Given the description of an element on the screen output the (x, y) to click on. 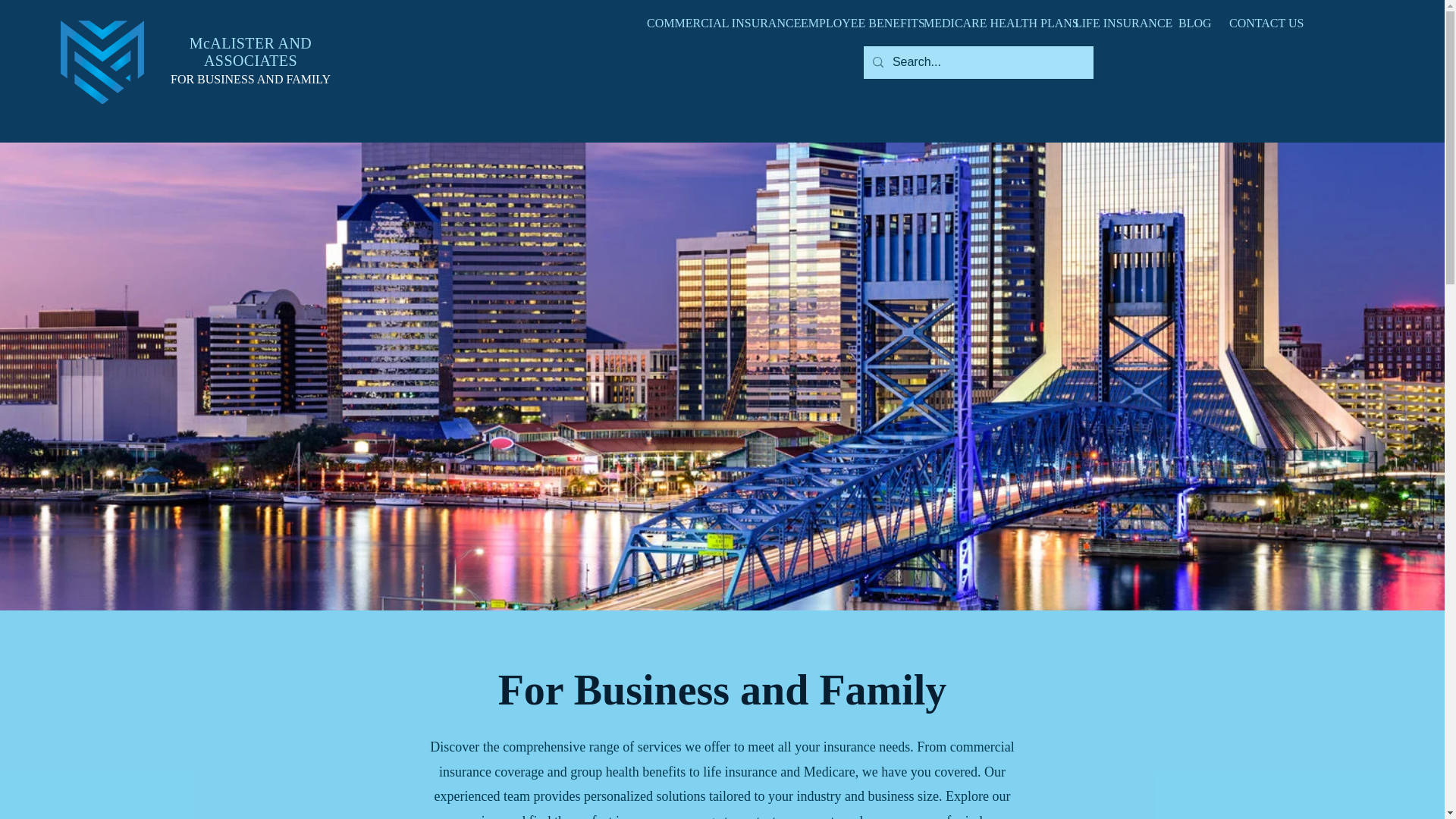
McALISTER AND ASSOCIATES (250, 51)
CONTACT US (1260, 23)
Life insurance quotes (102, 62)
LIFE INSURANCE (1114, 23)
BLOG (1192, 23)
MEDICARE HEALTH PLANS (987, 23)
COMMERCIAL INSURANCE (711, 23)
EMPLOYEE BENEFITS (850, 23)
